Given the description of an element on the screen output the (x, y) to click on. 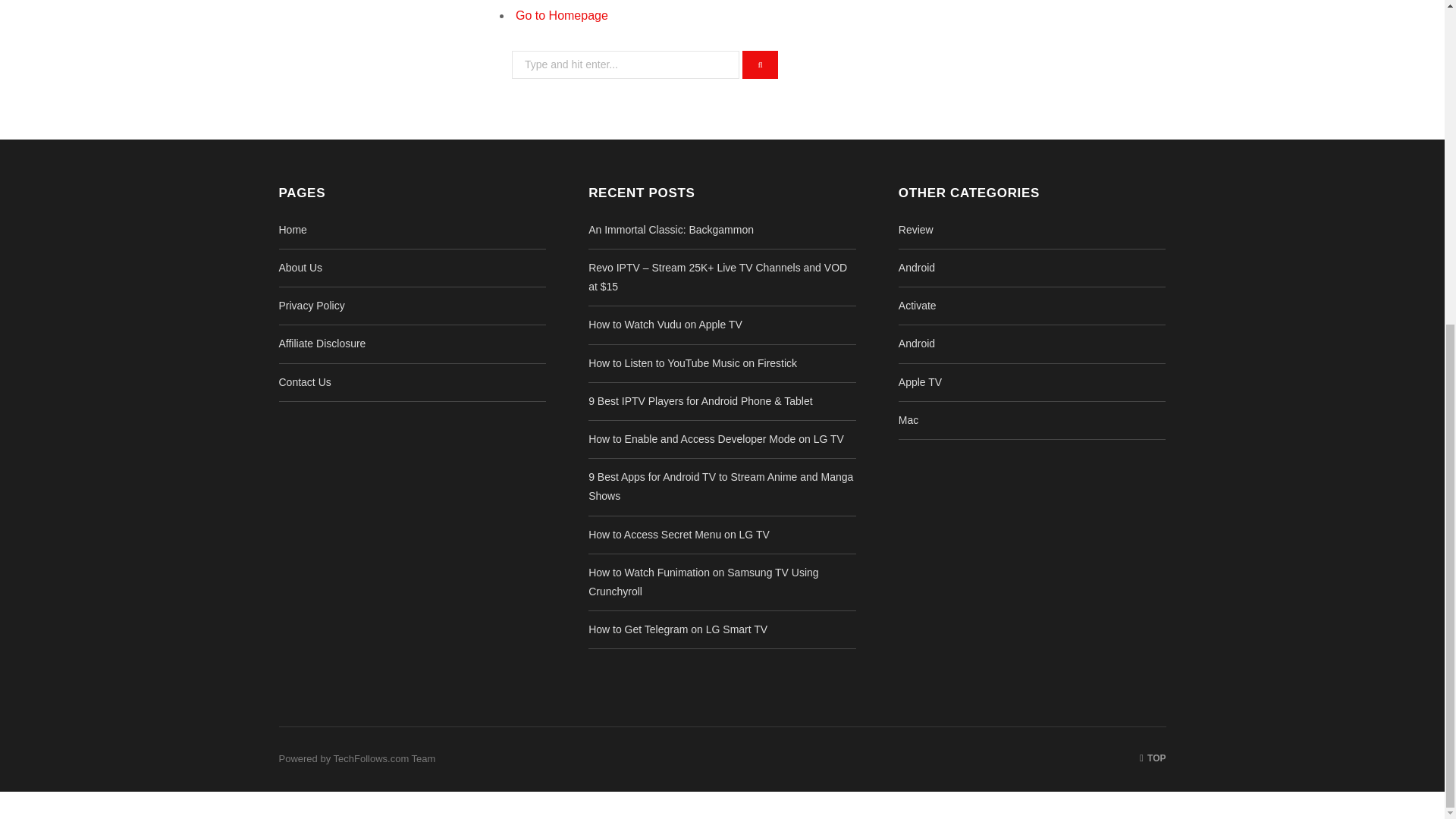
Apple TV (920, 381)
How to Watch Funimation on Samsung TV Using Crunchyroll (703, 581)
Go to Homepage (561, 15)
Contact Us (305, 381)
How to Watch Vudu on Apple TV (665, 324)
Home (293, 229)
9 Best Apps for Android TV to Stream Anime and Manga Shows (720, 486)
Android (916, 267)
Affiliate Disclosure (322, 343)
Android (916, 343)
Activate (917, 305)
Privacy Policy (312, 305)
How to Enable and Access Developer Mode on LG TV (716, 439)
How to Listen to YouTube Music on Firestick (692, 363)
Review (915, 229)
